Given the description of an element on the screen output the (x, y) to click on. 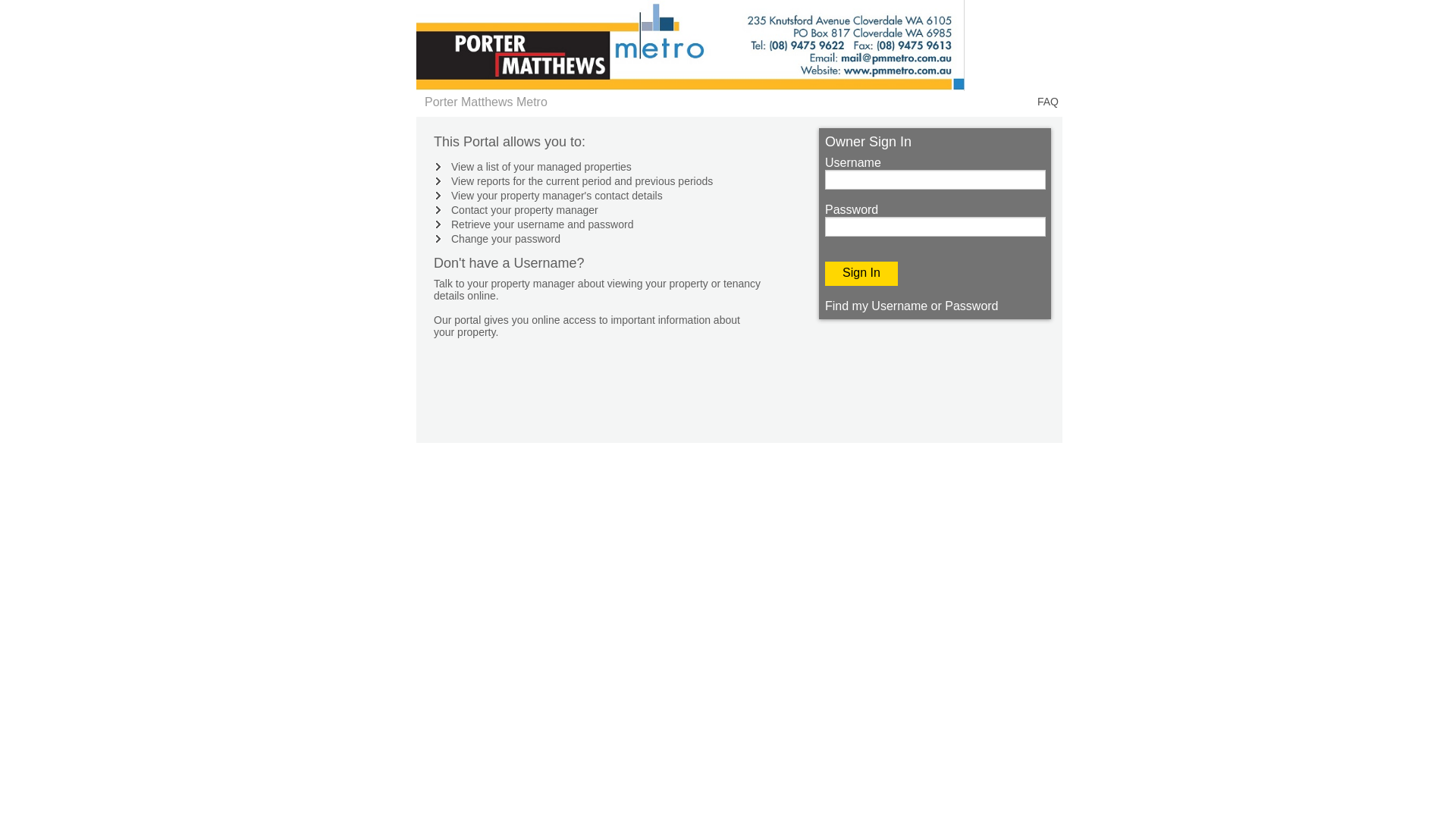
Find my Username or Password Element type: text (911, 305)
Sign In Element type: text (861, 273)
FAQ Element type: text (1047, 101)
